Given the description of an element on the screen output the (x, y) to click on. 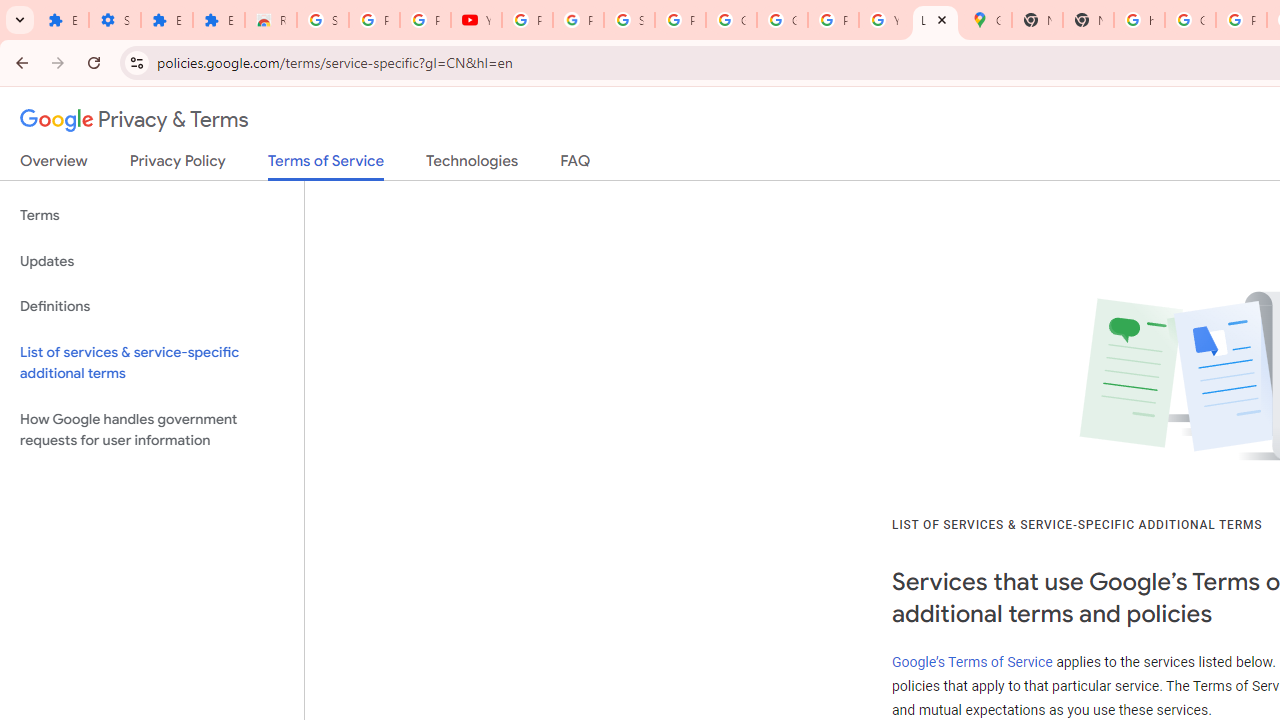
Sign in - Google Accounts (629, 20)
Google Account (731, 20)
Extensions (218, 20)
